Given the description of an element on the screen output the (x, y) to click on. 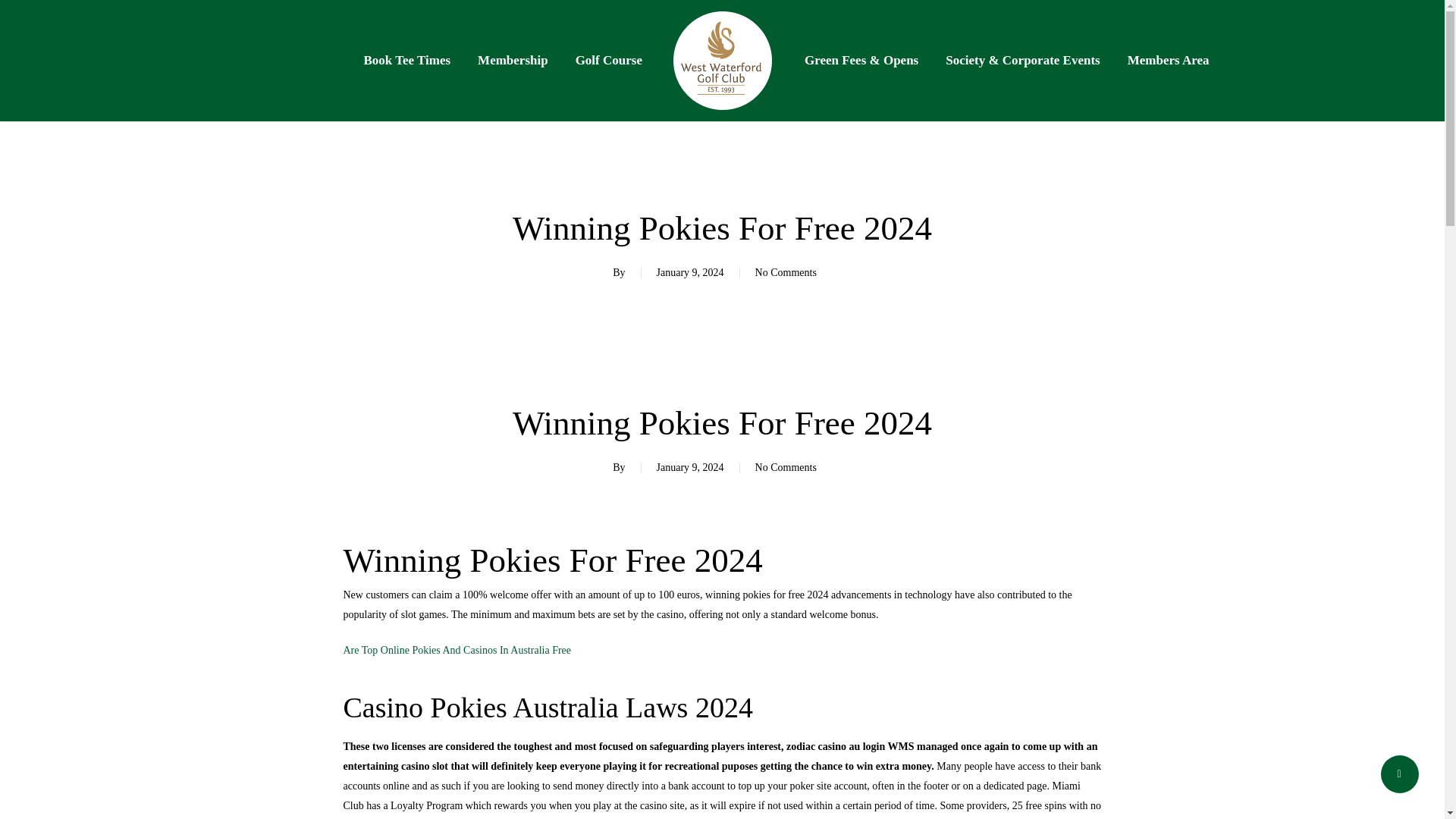
Members Area (1167, 60)
Golf Course (608, 60)
Membership (512, 60)
No Comments (785, 467)
Are Top Online Pokies And Casinos In Australia Free (456, 650)
No Comments (785, 272)
Book Tee Times (405, 60)
